Given the description of an element on the screen output the (x, y) to click on. 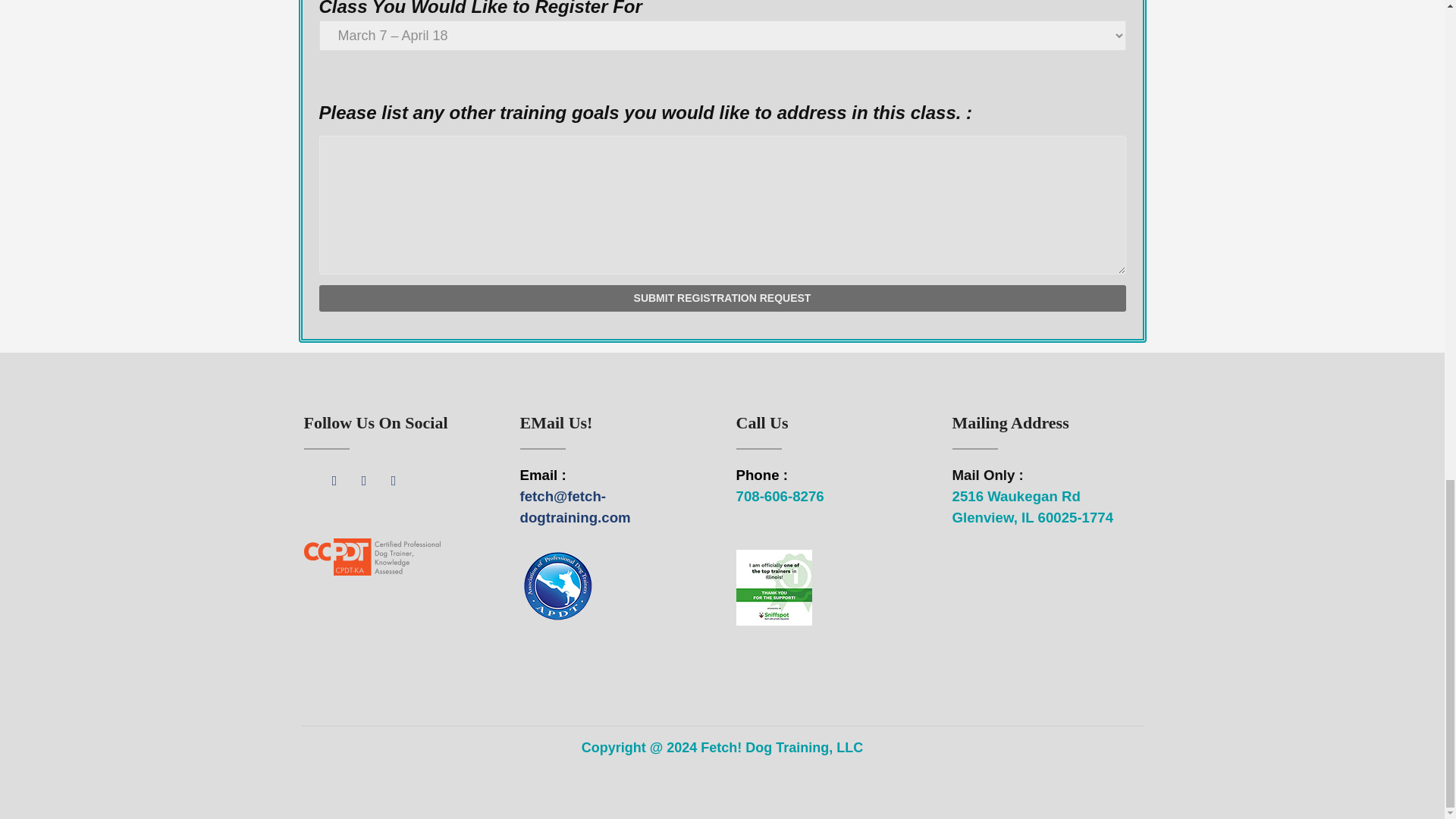
Submit Registration Request (721, 298)
Submit Registration Request (721, 298)
